Given the description of an element on the screen output the (x, y) to click on. 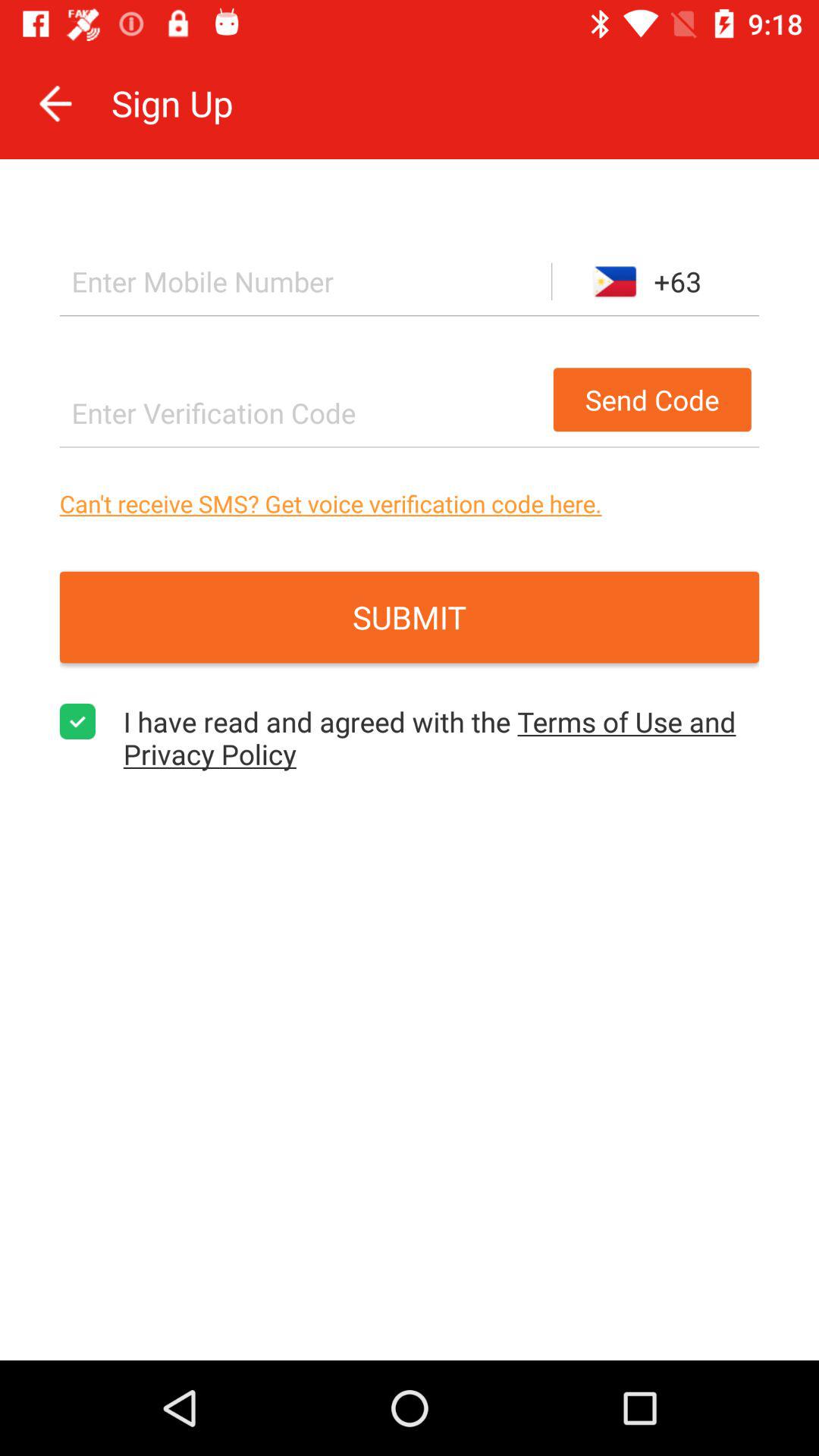
choose item to the left of send code item (302, 412)
